Given the description of an element on the screen output the (x, y) to click on. 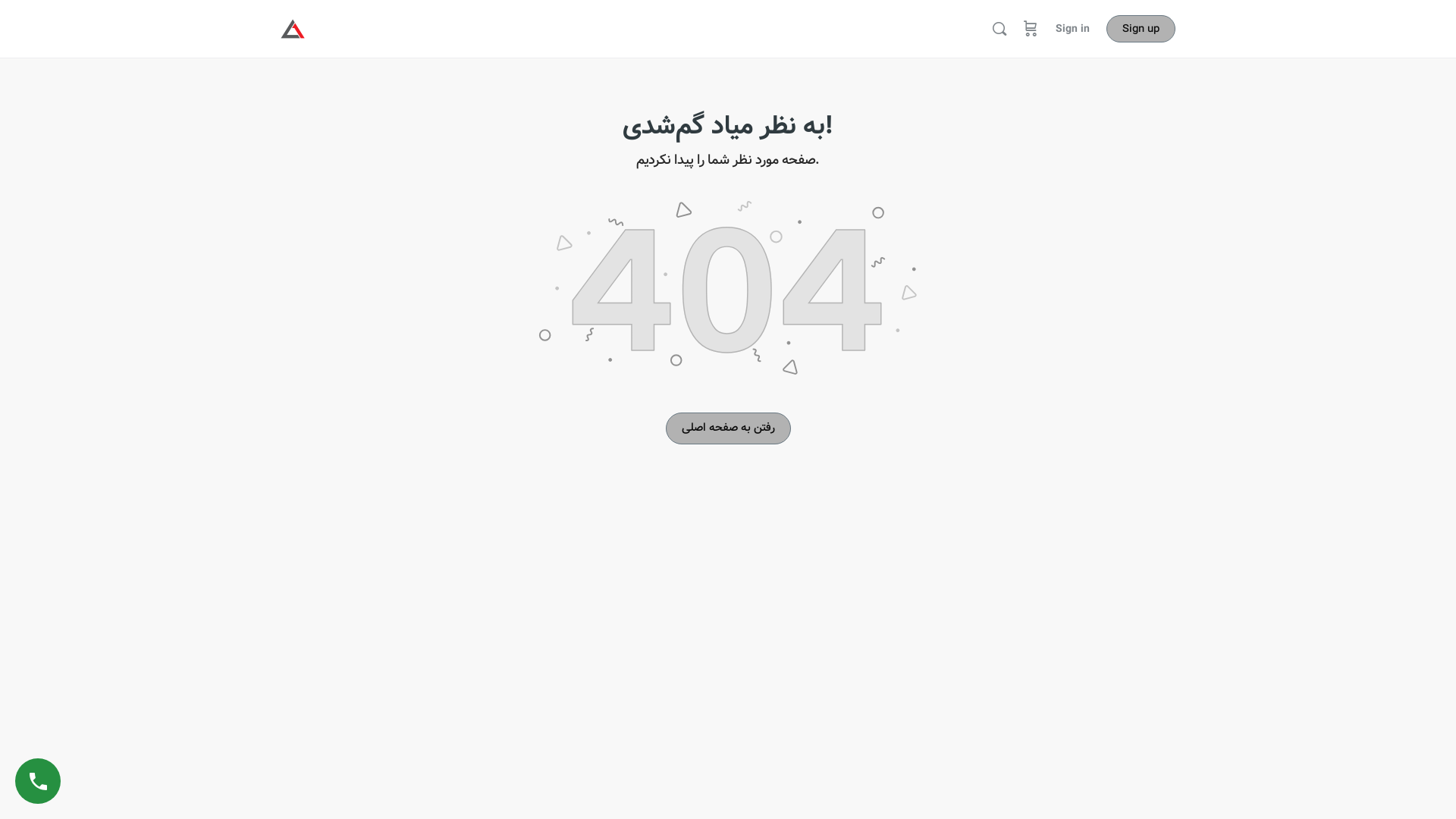
Sign in Element type: text (1072, 28)
Sign up Element type: text (1140, 28)
